Given the description of an element on the screen output the (x, y) to click on. 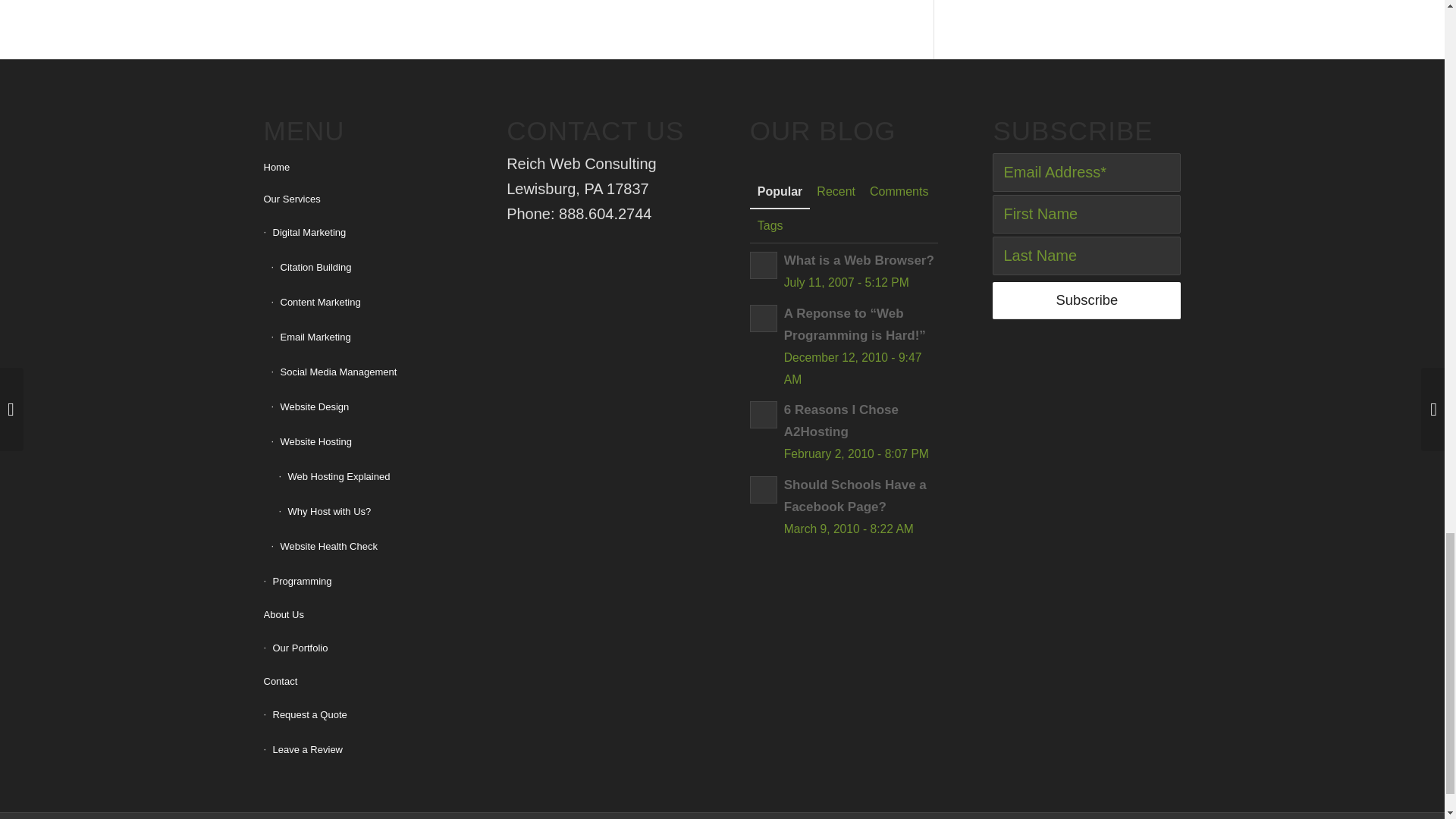
Subscribe (1086, 300)
